Given the description of an element on the screen output the (x, y) to click on. 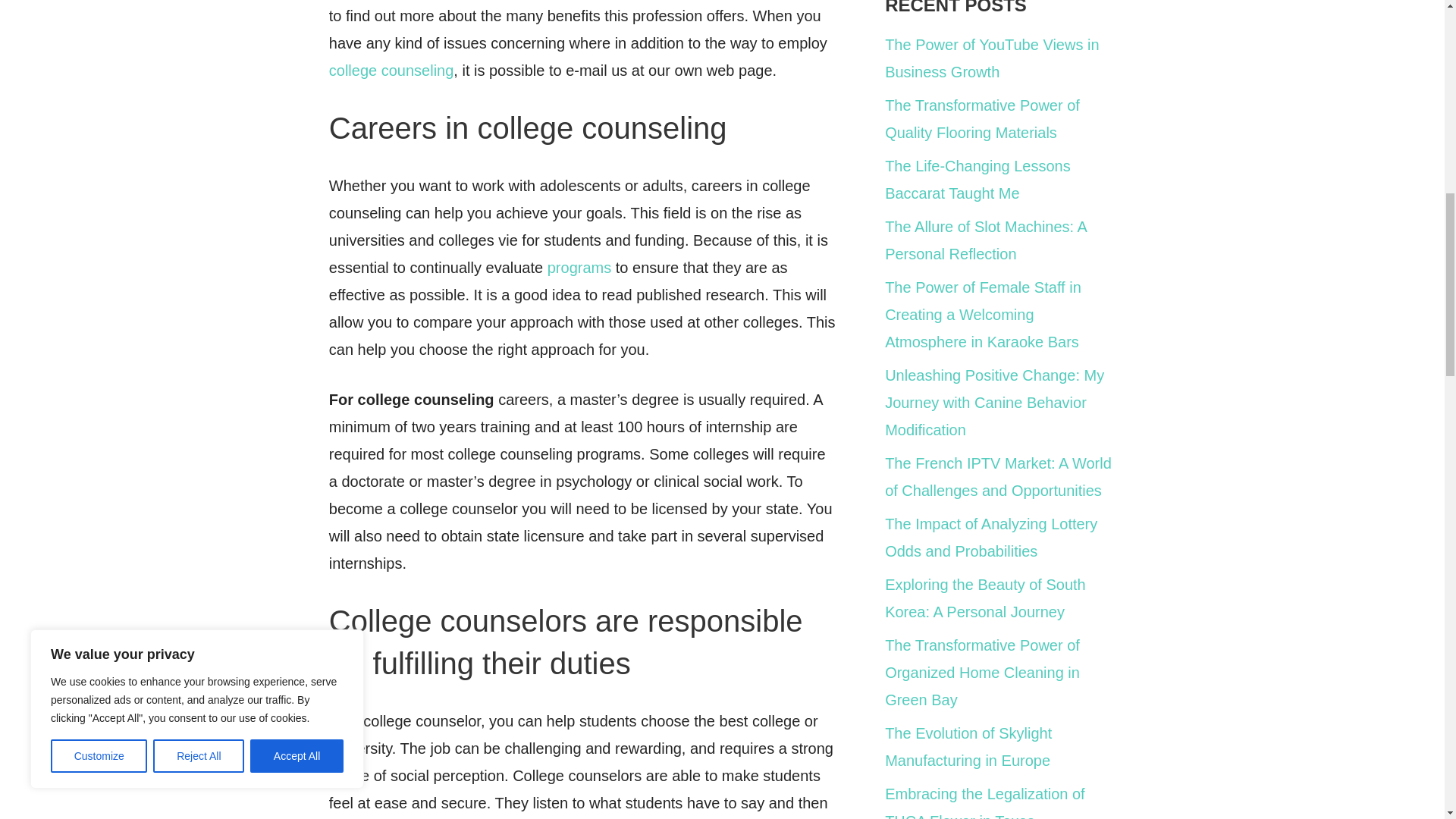
programs (579, 267)
college counseling (391, 70)
